Given the description of an element on the screen output the (x, y) to click on. 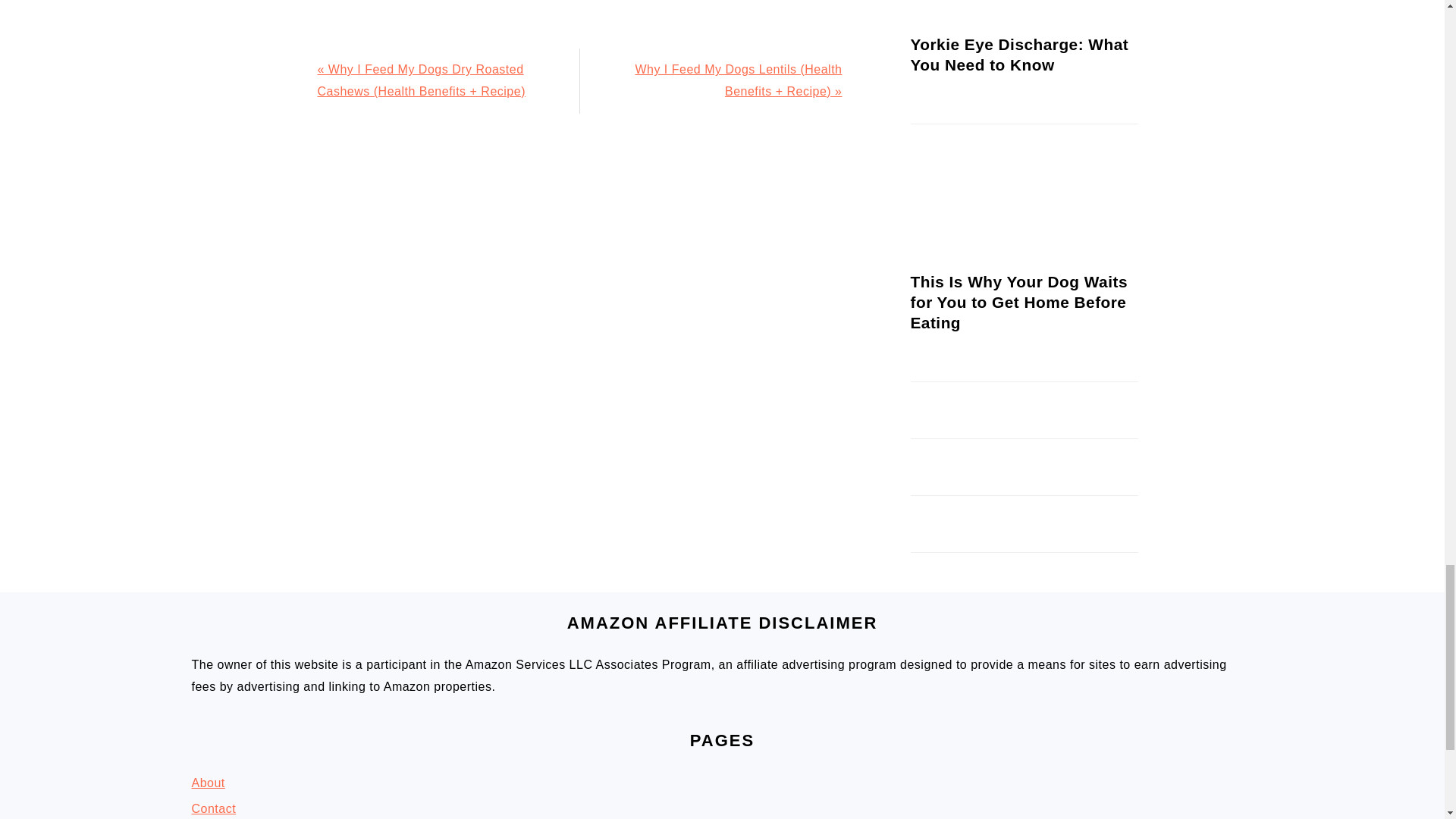
This Is Why Your Dog Waits for You to Get Home Before Eating (966, 262)
Yorkie Eye Discharge: What You Need to Know (966, 25)
